Given the description of an element on the screen output the (x, y) to click on. 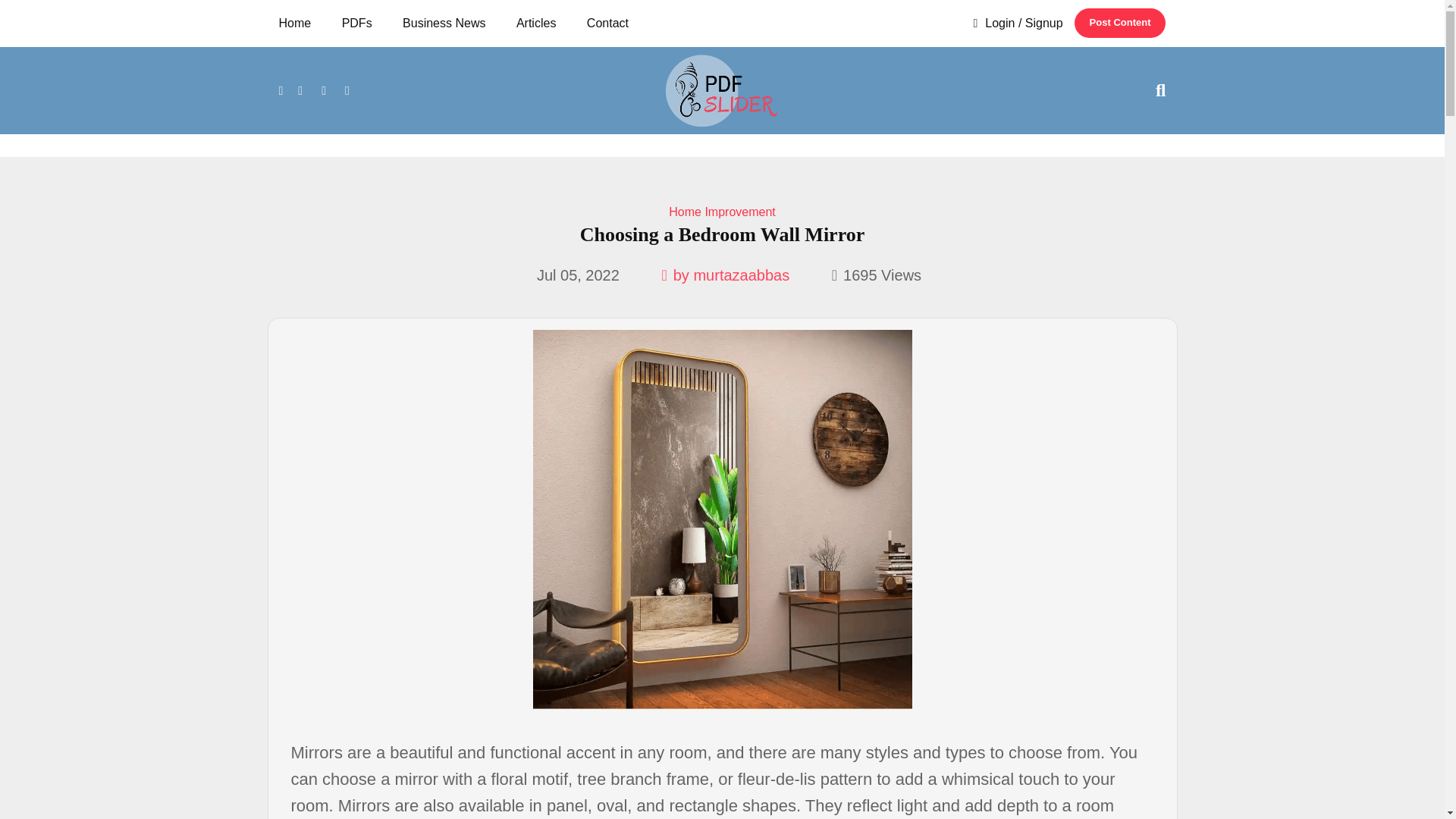
twitter (299, 90)
Home (300, 23)
by murtazaabbas (725, 274)
Contact (607, 23)
Post Content (1120, 22)
tumblr (346, 90)
Articles (536, 23)
pinterest (323, 90)
Home Improvement (722, 211)
